Given the description of an element on the screen output the (x, y) to click on. 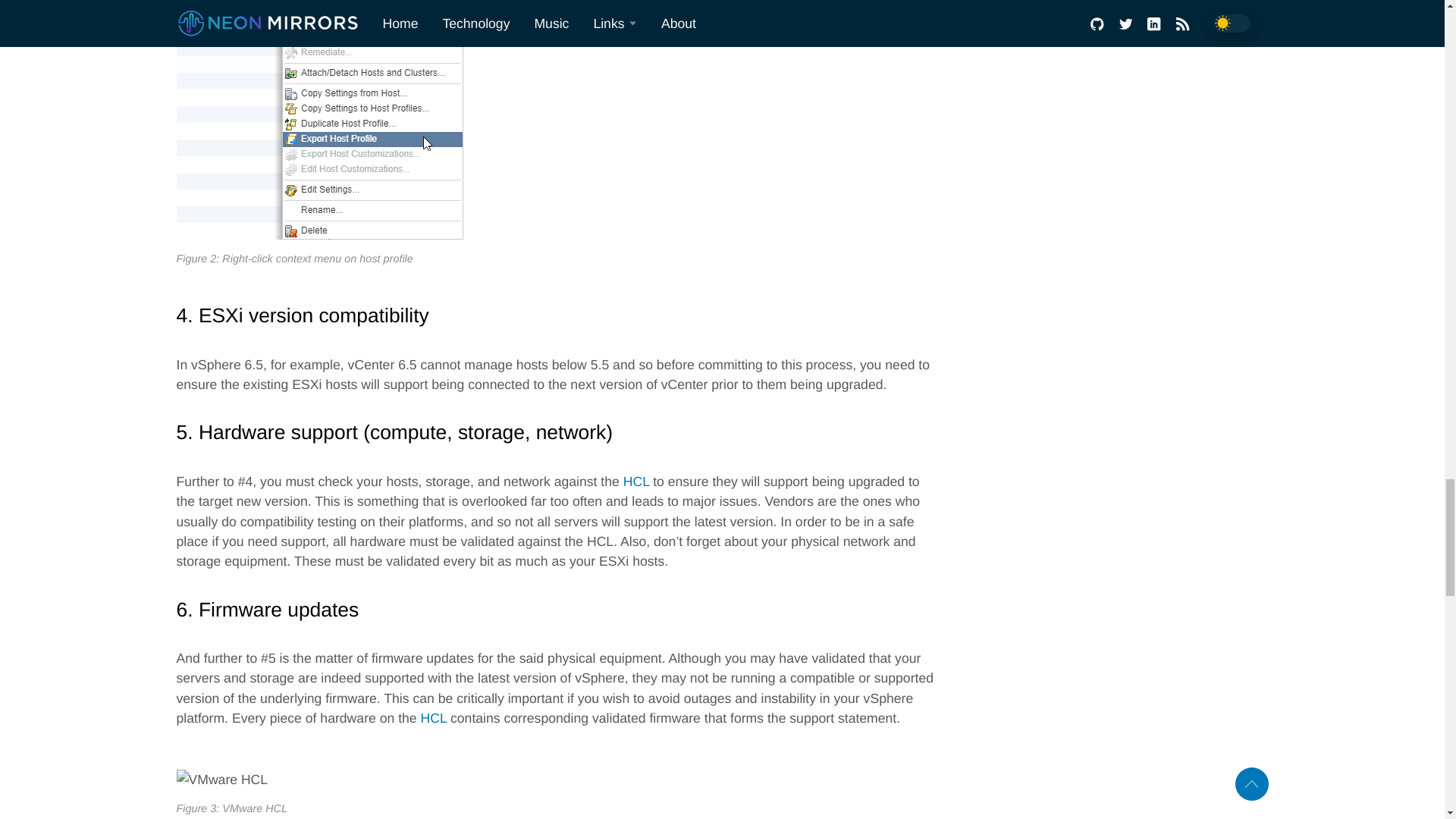
HCL (636, 481)
HCL (433, 717)
